Given the description of an element on the screen output the (x, y) to click on. 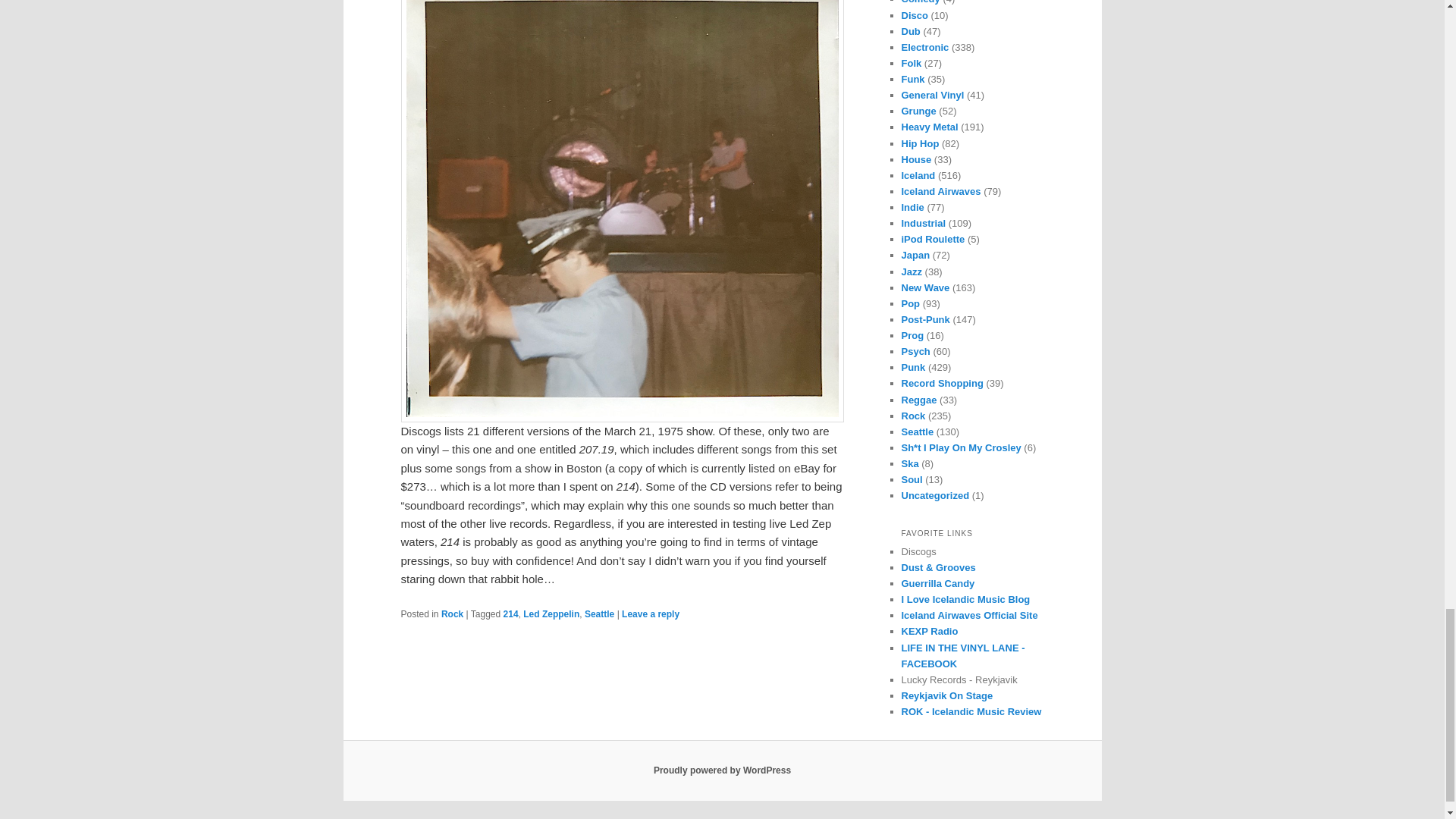
Seattle (599, 614)
Posts about vinyl in general (932, 94)
Leave a reply (650, 614)
Follow the blog on Facebook! (963, 655)
Led Zeppelin (550, 614)
214 (510, 614)
Rock (452, 614)
